Given the description of an element on the screen output the (x, y) to click on. 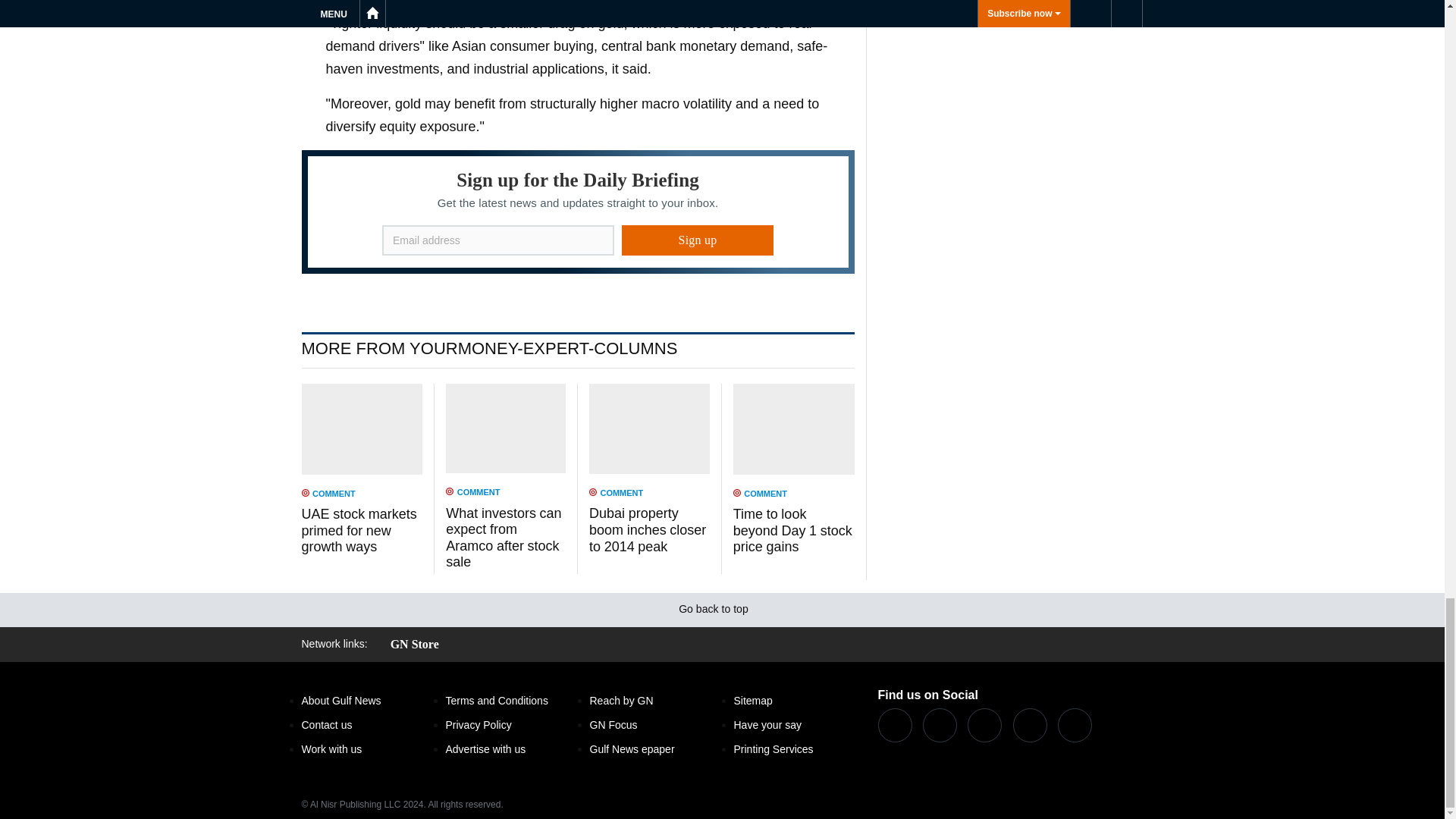
Sign up for the Daily Briefing (577, 211)
